Given the description of an element on the screen output the (x, y) to click on. 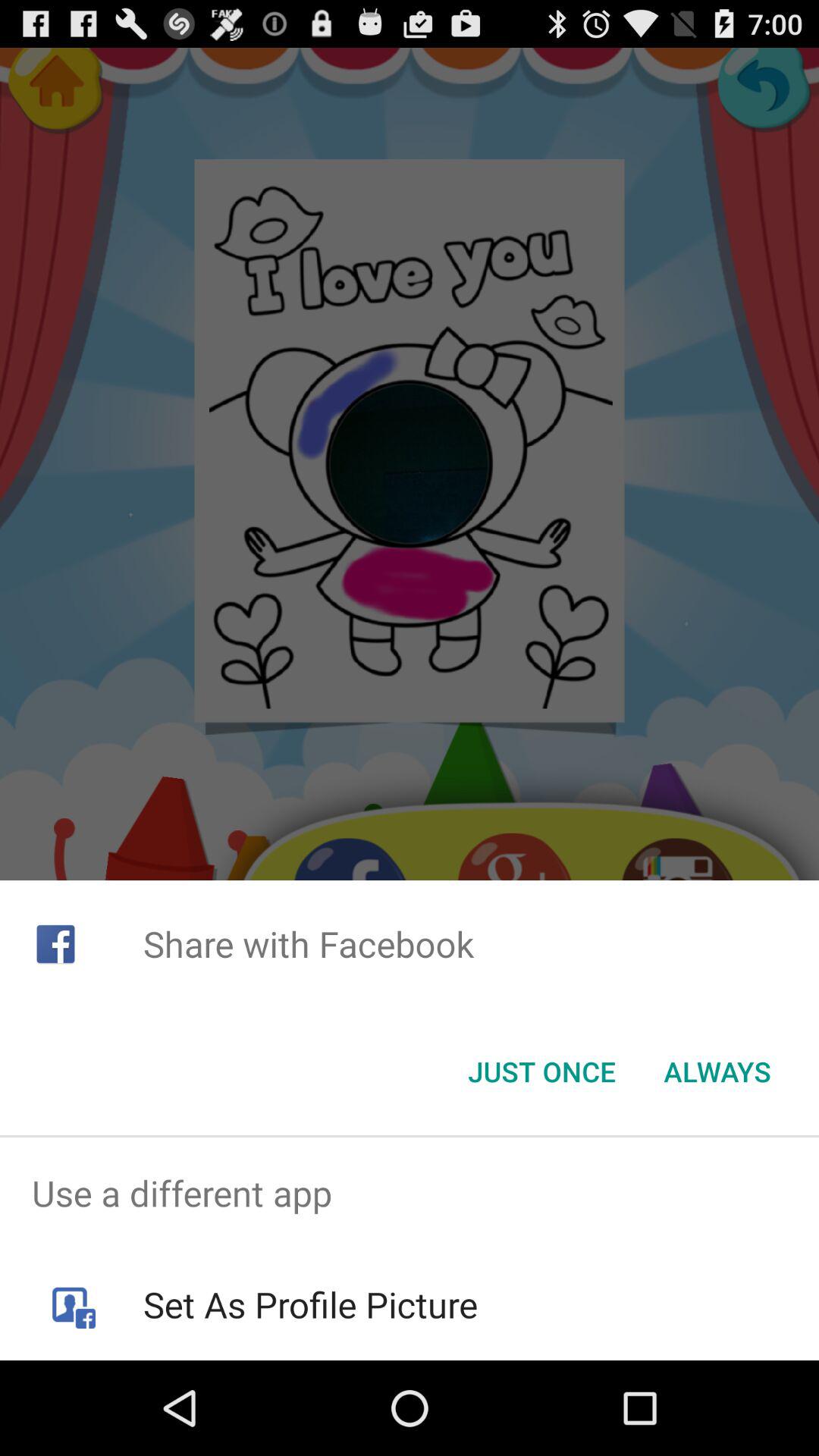
swipe until the use a different (409, 1192)
